Given the description of an element on the screen output the (x, y) to click on. 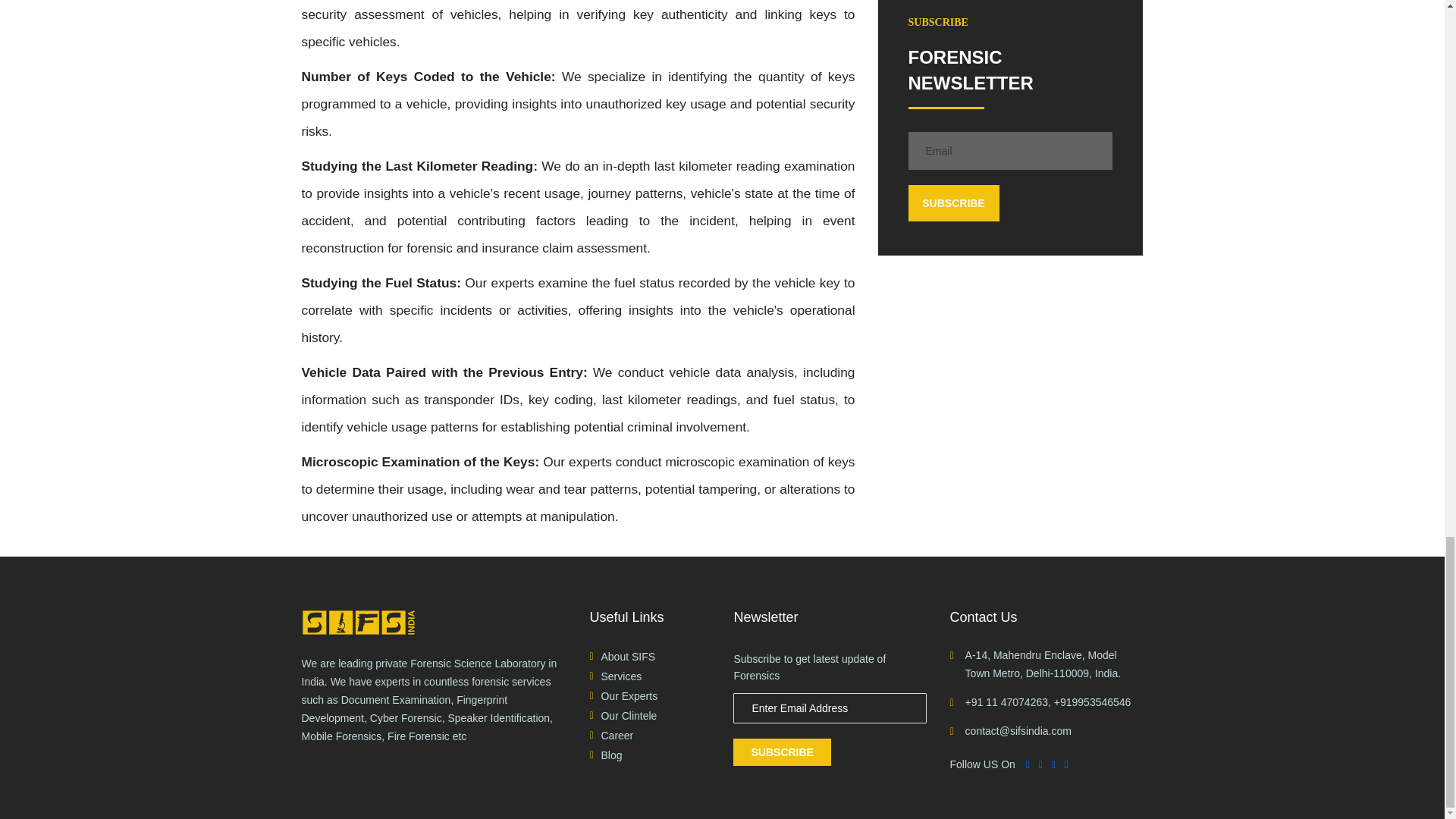
Subscribe (953, 203)
